Given the description of an element on the screen output the (x, y) to click on. 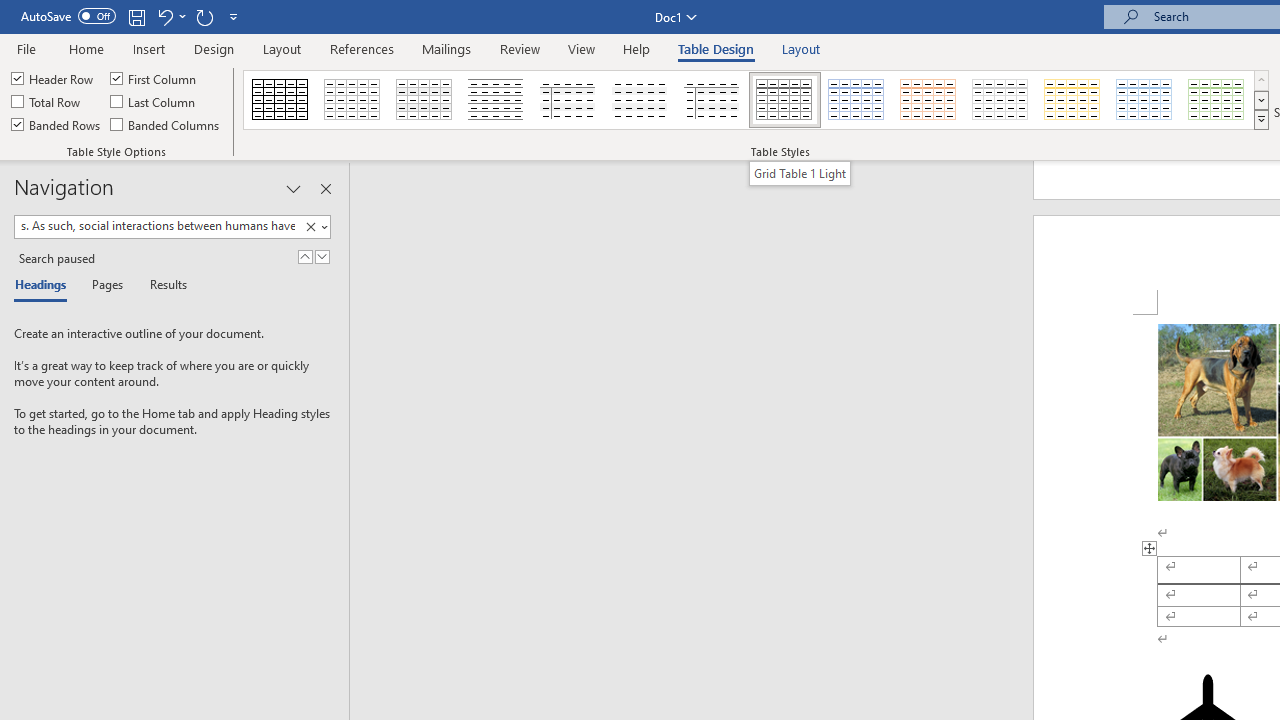
Table Styles (1261, 120)
Grid Table 1 Light - Accent 1 (856, 100)
Plain Table 1 (424, 100)
Repeat Style (204, 15)
Grid Table 1 Light (784, 100)
Table Grid Light (353, 100)
Next Result (322, 256)
